Given the description of an element on the screen output the (x, y) to click on. 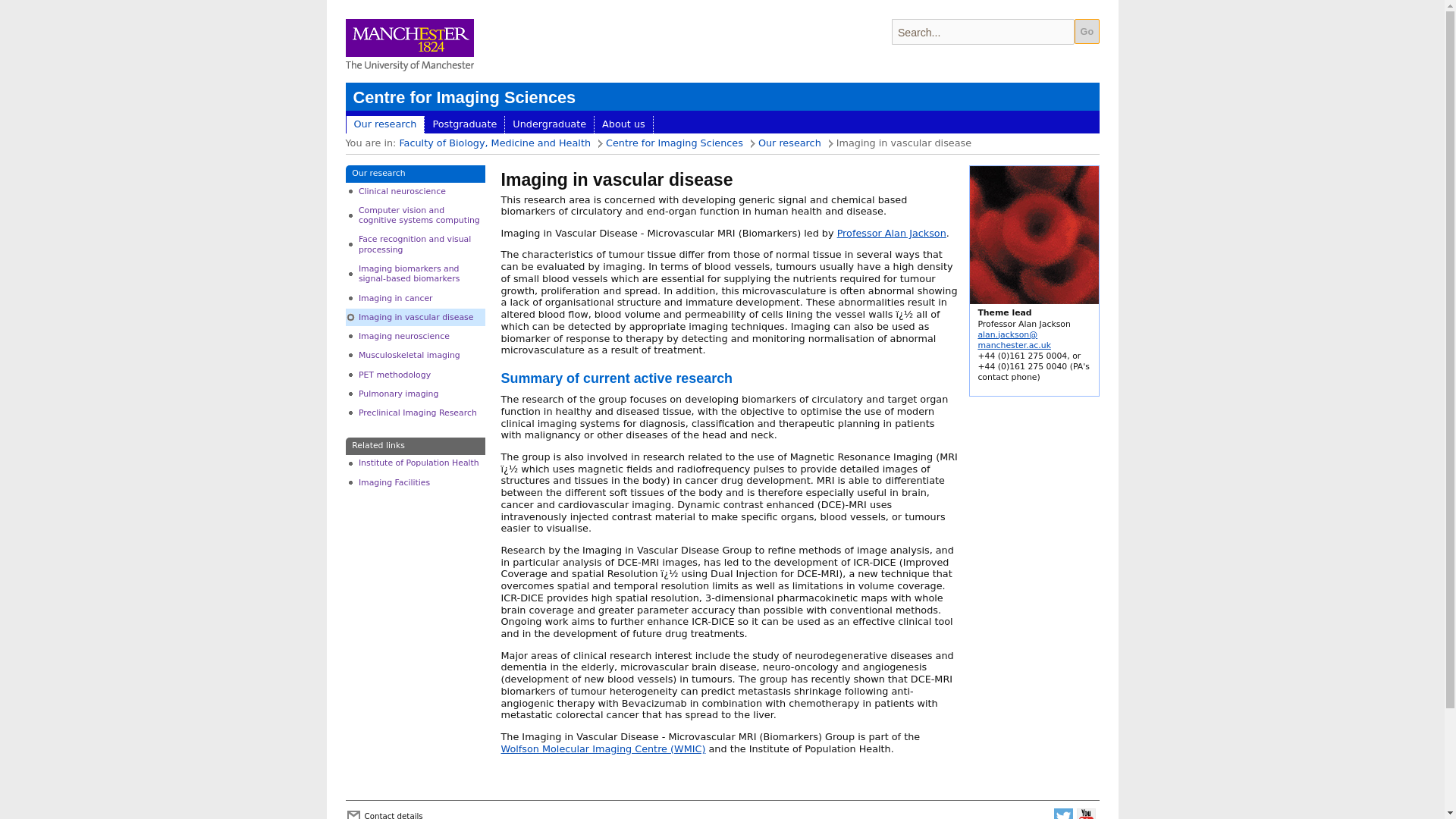
Musculoskeletal imaging (415, 355)
Computer vision and cognitive systems computing (415, 214)
Postgraduate (464, 125)
Imaging Facilities (415, 482)
Institute of Population Health (415, 463)
Postgraduate (464, 125)
Imaging neuroscience (415, 336)
Our research (789, 142)
Contact details (393, 813)
Pulmonary imaging (415, 393)
